Given the description of an element on the screen output the (x, y) to click on. 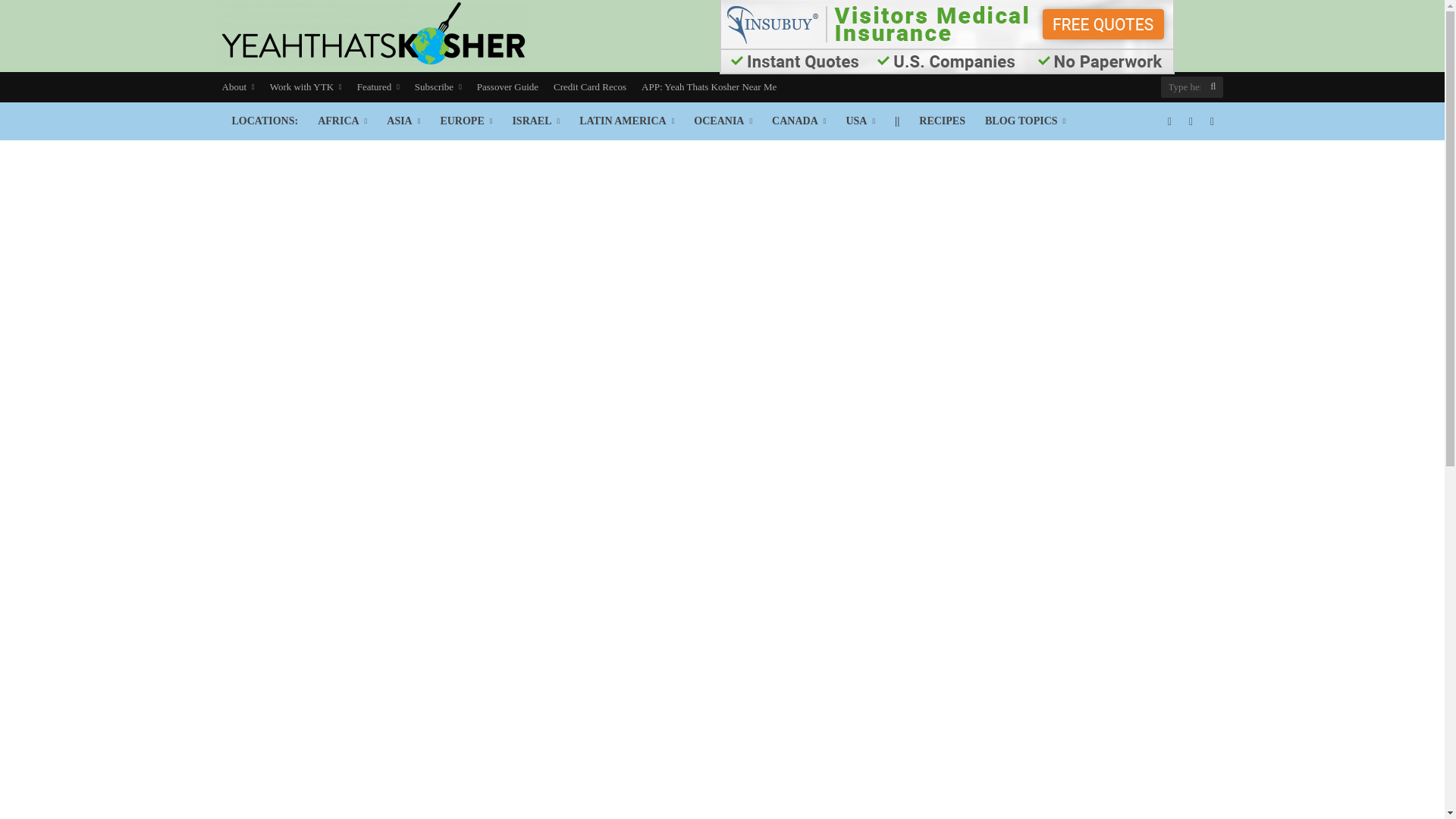
Subscribe (437, 87)
Passover Guide (507, 87)
Credit Card Recos (589, 87)
LOCATIONS: (264, 121)
About (241, 87)
Featured (378, 87)
APP: Yeah Thats Kosher Near Me (708, 87)
Work with YTK (305, 87)
AFRICA (342, 121)
